Given the description of an element on the screen output the (x, y) to click on. 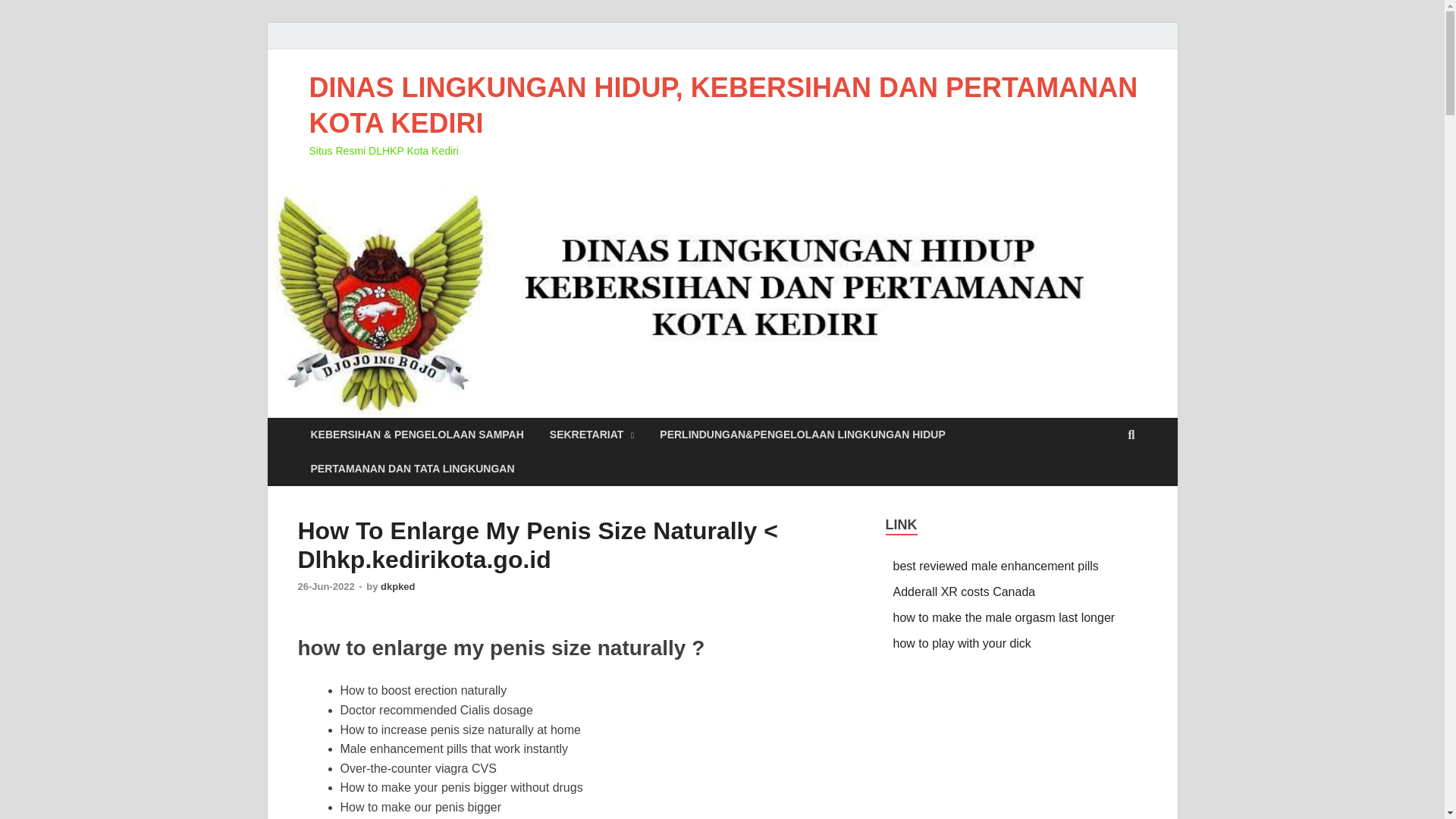
how to play with your dick (961, 643)
how to make the male orgasm last longer (1004, 617)
SEKRETARIAT (592, 434)
best reviewed male enhancement pills (996, 565)
Adderall XR costs Canada (964, 591)
26-Jun-2022 (326, 586)
dkpked (397, 586)
PERTAMANAN DAN TATA LINGKUNGAN (412, 469)
